Given the description of an element on the screen output the (x, y) to click on. 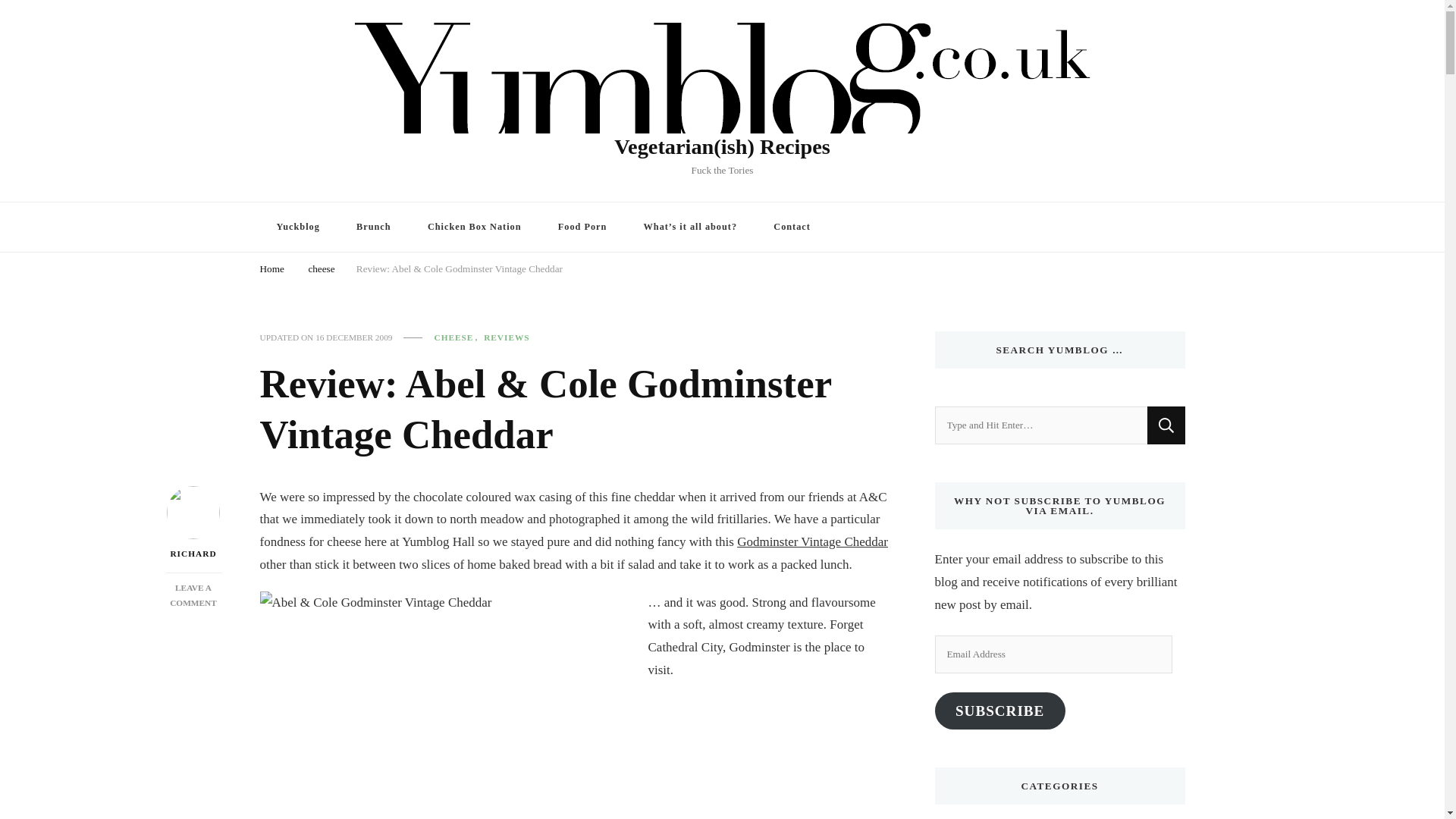
CHEESE (457, 337)
Home (271, 270)
Yuckblog (297, 226)
Godminster Vintage Cheddar (812, 541)
cheese (320, 270)
16 DECEMBER 2009 (353, 337)
SUBSCRIBE (999, 710)
REVIEWS (506, 337)
Search (1166, 425)
Food Porn (582, 226)
Brunch (373, 226)
Search (1166, 425)
Contact (792, 226)
Chicken Box Nation (474, 226)
Search (1166, 425)
